Given the description of an element on the screen output the (x, y) to click on. 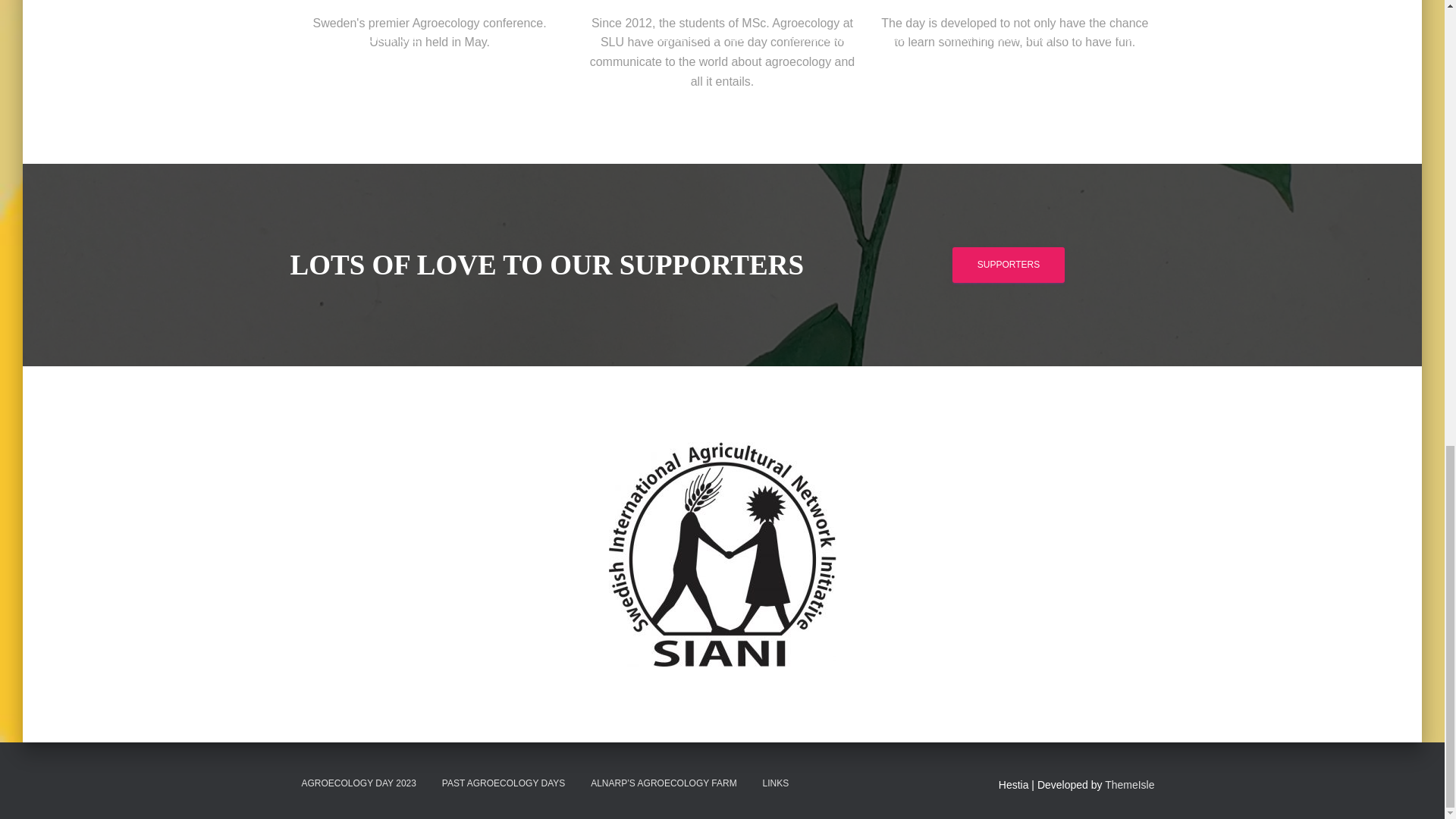
SUPPORTERS (1008, 264)
AGROECOLOGY DAY 2023 (357, 783)
